Given the description of an element on the screen output the (x, y) to click on. 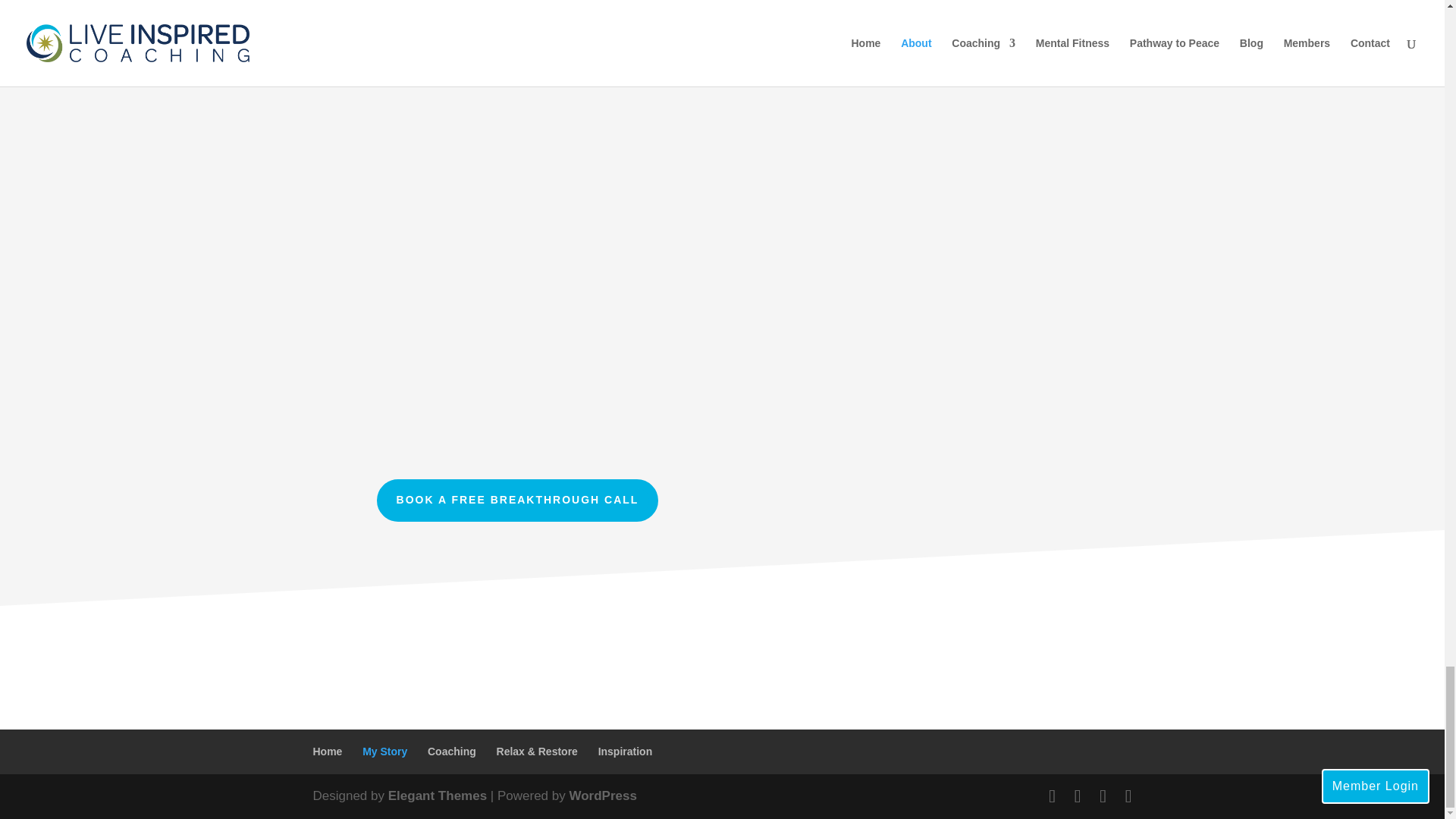
Coaching (452, 751)
Home (327, 751)
Inspiration (625, 751)
My Story (384, 751)
Premium WordPress Themes (437, 795)
Elegant Themes (437, 795)
BOOK A FREE BREAKTHROUGH CALL (518, 500)
